Given the description of an element on the screen output the (x, y) to click on. 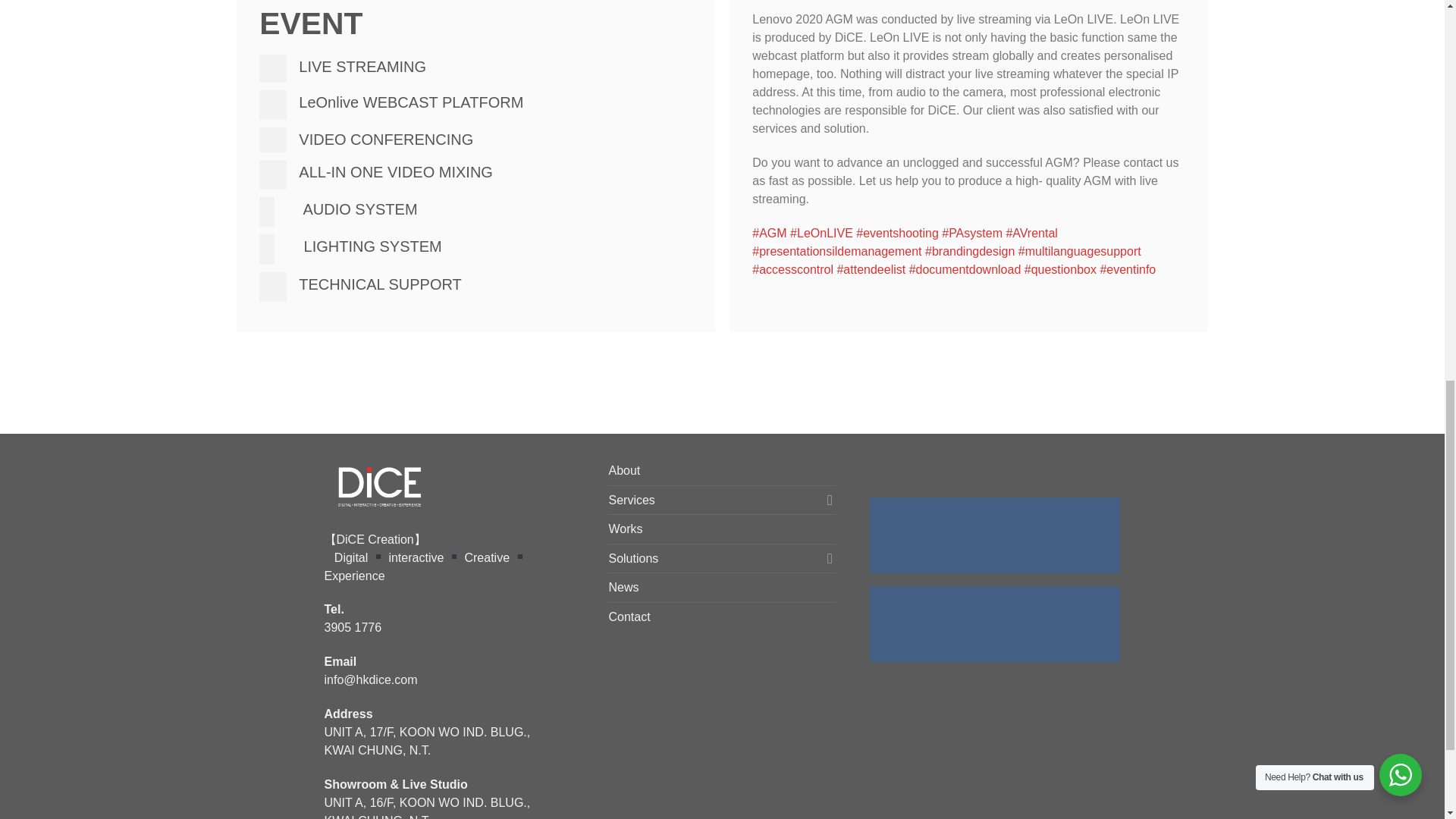
Services (713, 500)
KWAI CHUNG, N.T. (377, 749)
3905 1776 (352, 626)
About (624, 470)
